Given the description of an element on the screen output the (x, y) to click on. 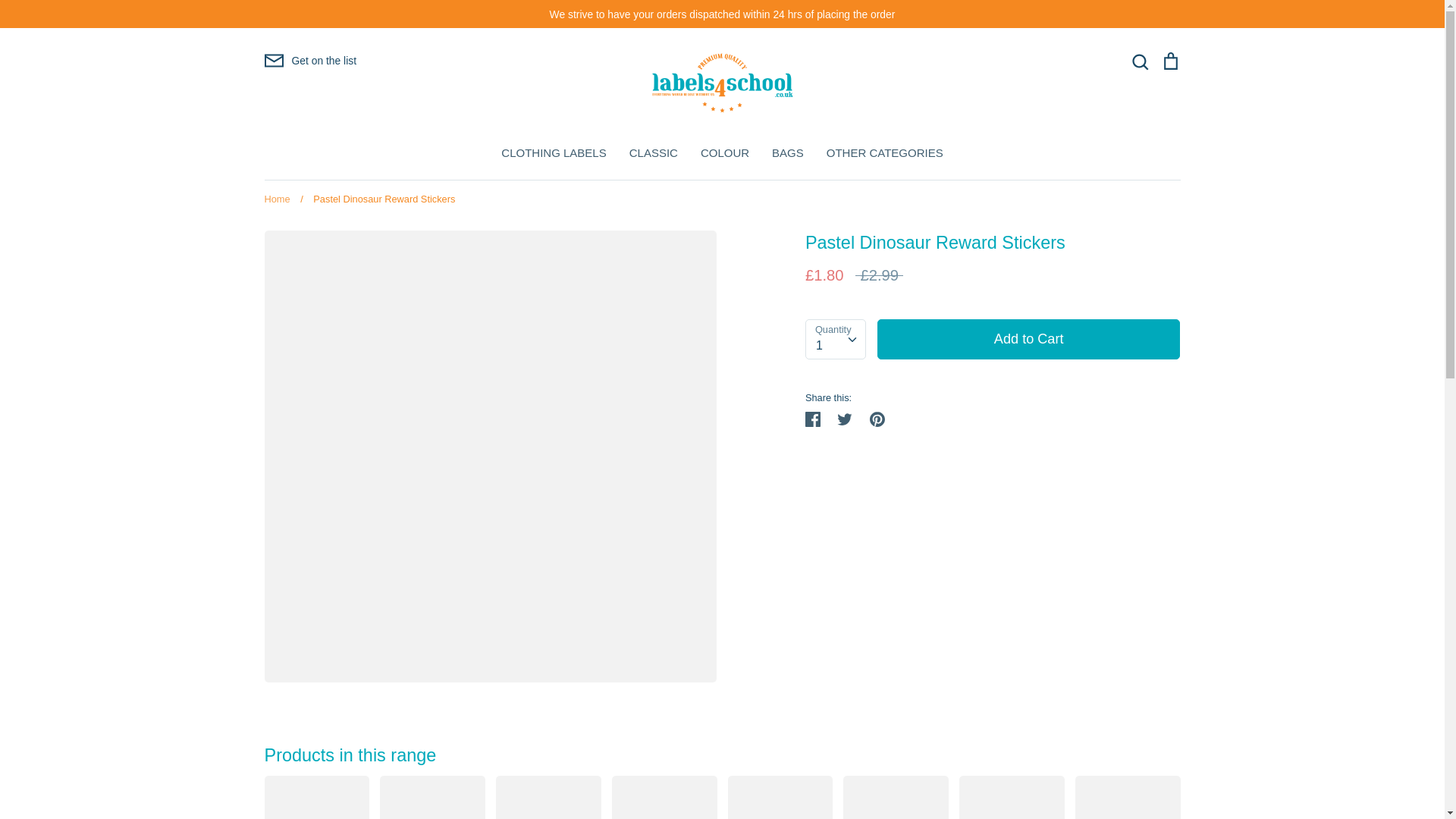
CLOTHING LABELS (552, 152)
1 (835, 338)
CLASSIC (653, 152)
Cart (1169, 61)
Search (1139, 61)
Get on the list (309, 60)
